Given the description of an element on the screen output the (x, y) to click on. 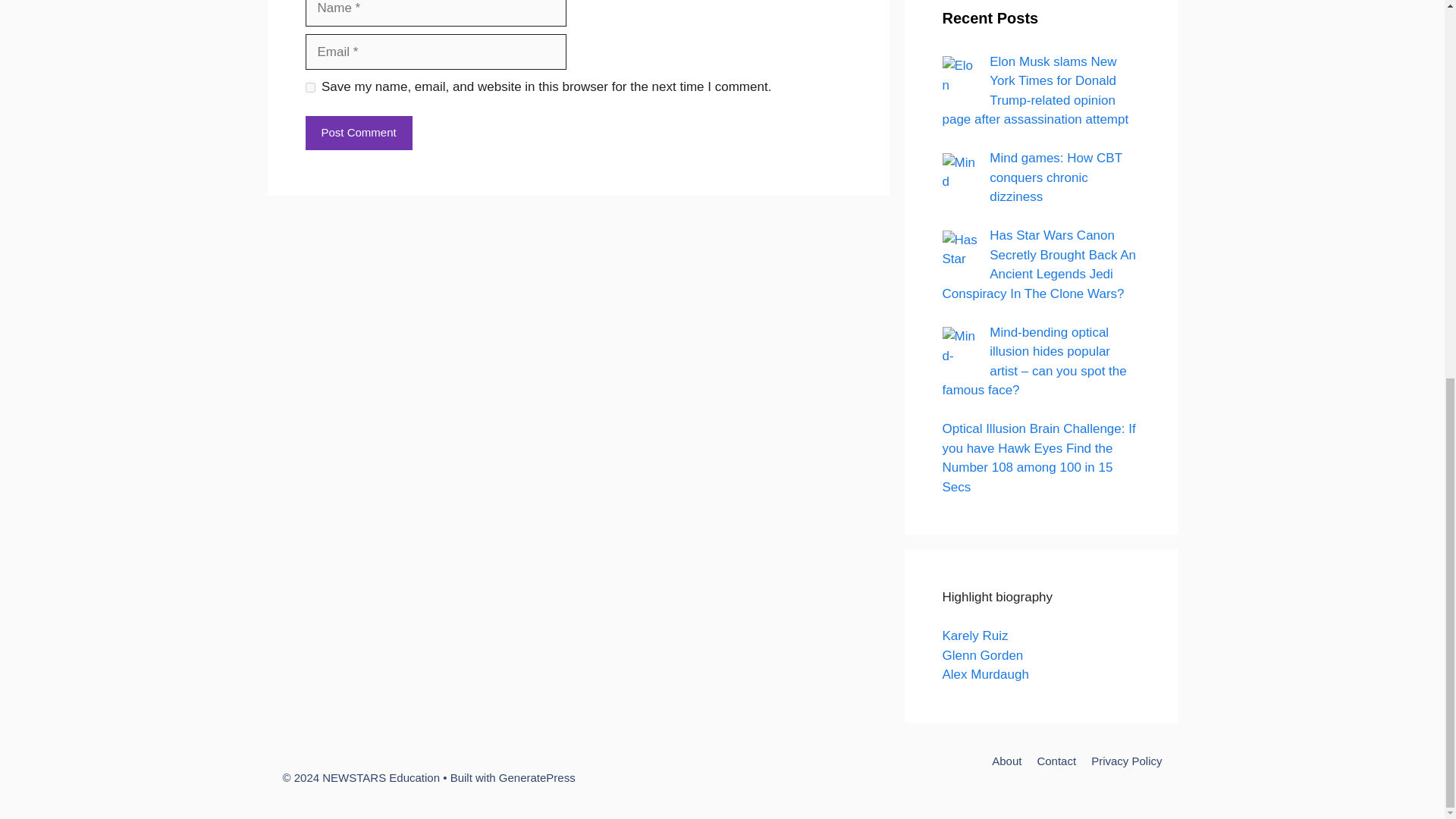
Privacy Policy (1125, 760)
Post Comment (358, 132)
Alex Murdaugh (984, 674)
Glenn Gorden (982, 655)
yes (309, 87)
Post Comment (358, 132)
Mind games: How CBT conquers chronic dizziness (1055, 176)
Mind games: How CBT conquers chronic dizziness (960, 171)
GeneratePress (537, 777)
Contact (1055, 760)
